Given the description of an element on the screen output the (x, y) to click on. 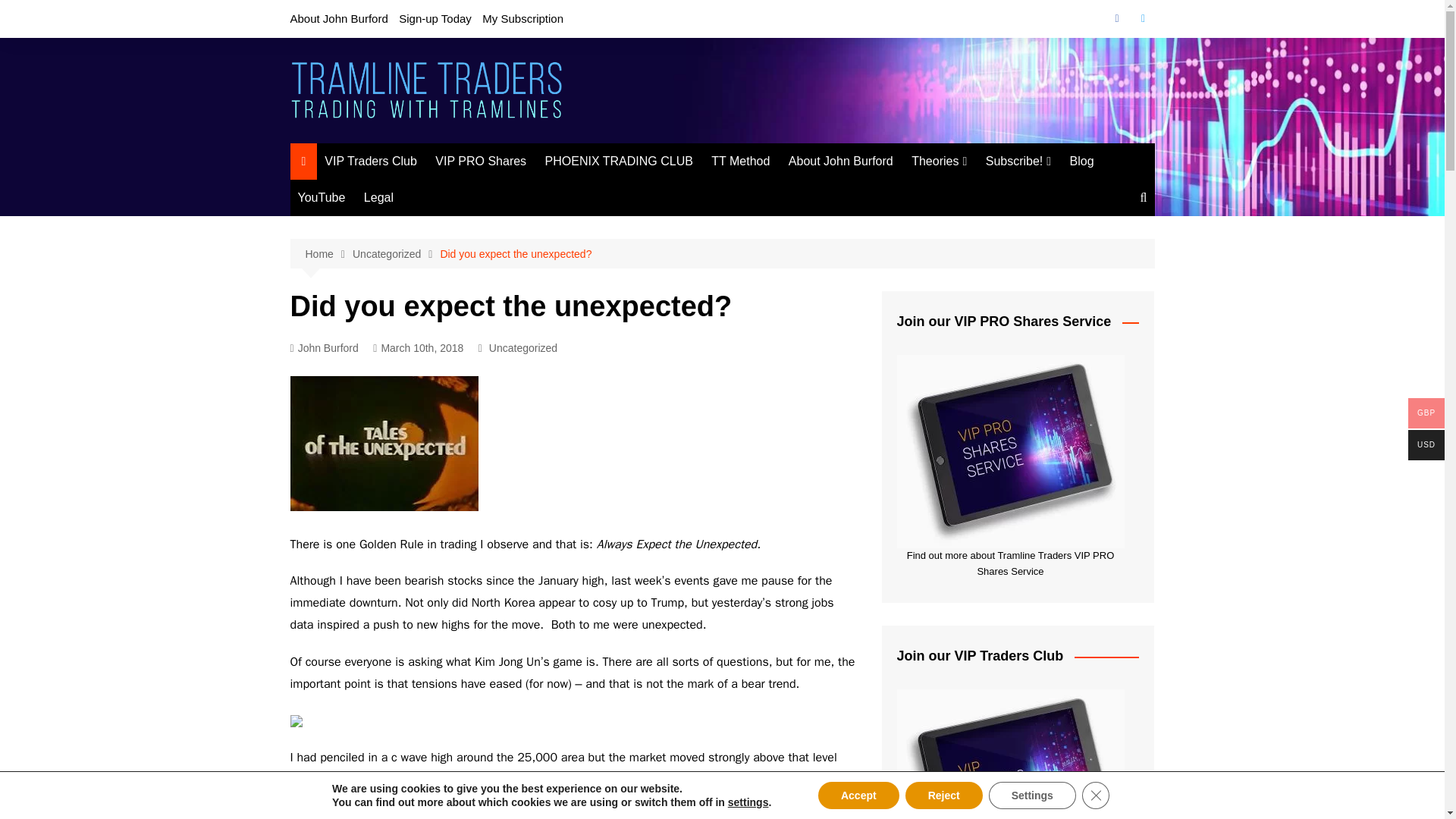
Fibonnaci (987, 191)
About John Burford (338, 18)
March 10th, 2018 (417, 348)
John Burford (323, 348)
Facebook (1116, 18)
Home (328, 253)
TT Method (740, 161)
Twitter (1142, 18)
VIP PRO Shares (481, 161)
Uncategorized (523, 347)
